Given the description of an element on the screen output the (x, y) to click on. 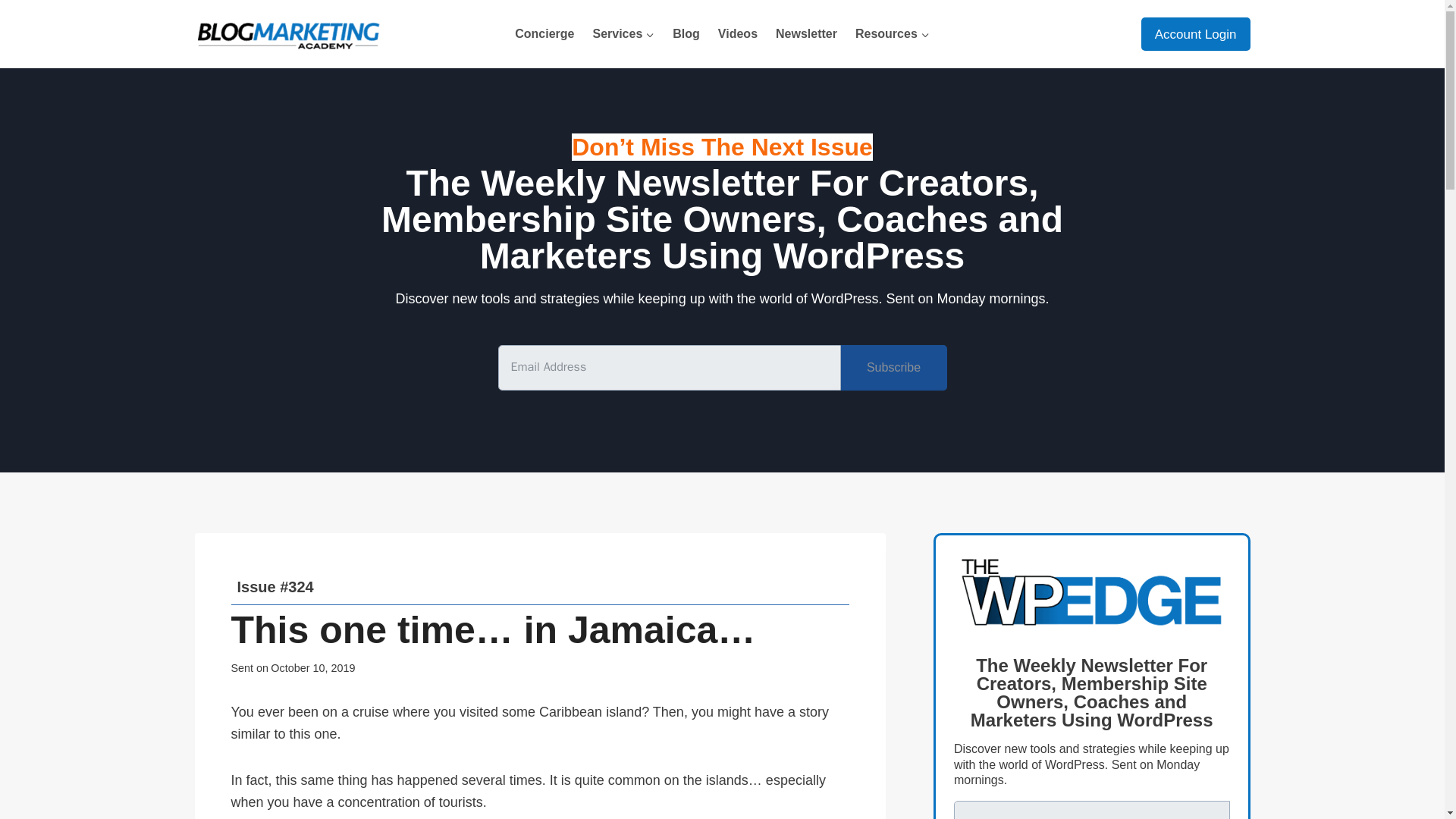
Resources (892, 33)
Services (623, 33)
Subscribe (893, 367)
Account Login (1195, 33)
Newsletter (806, 33)
Blog (686, 33)
Concierge (544, 33)
Videos (738, 33)
